Given the description of an element on the screen output the (x, y) to click on. 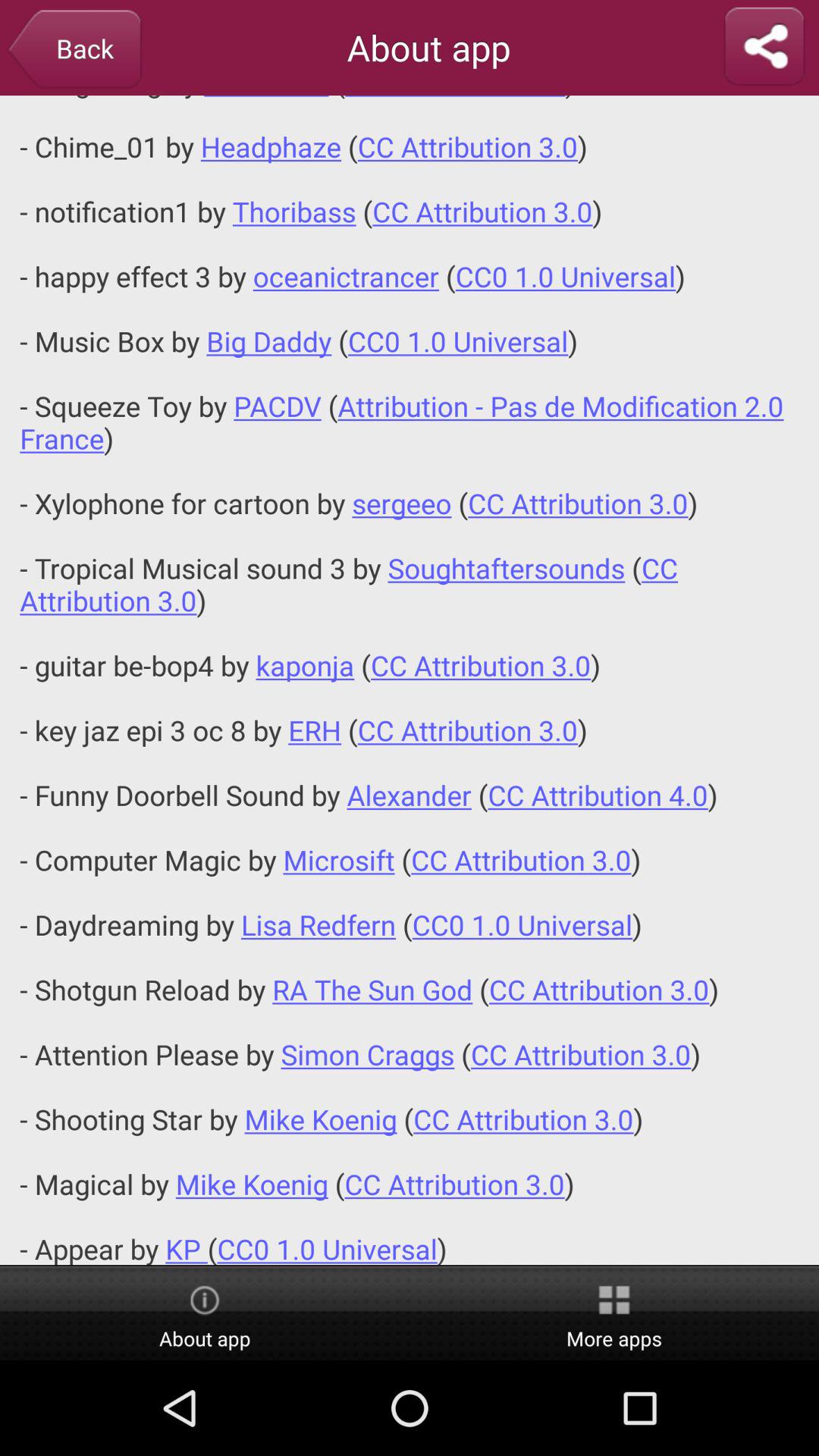
launch button above about app icon (409, 679)
